Given the description of an element on the screen output the (x, y) to click on. 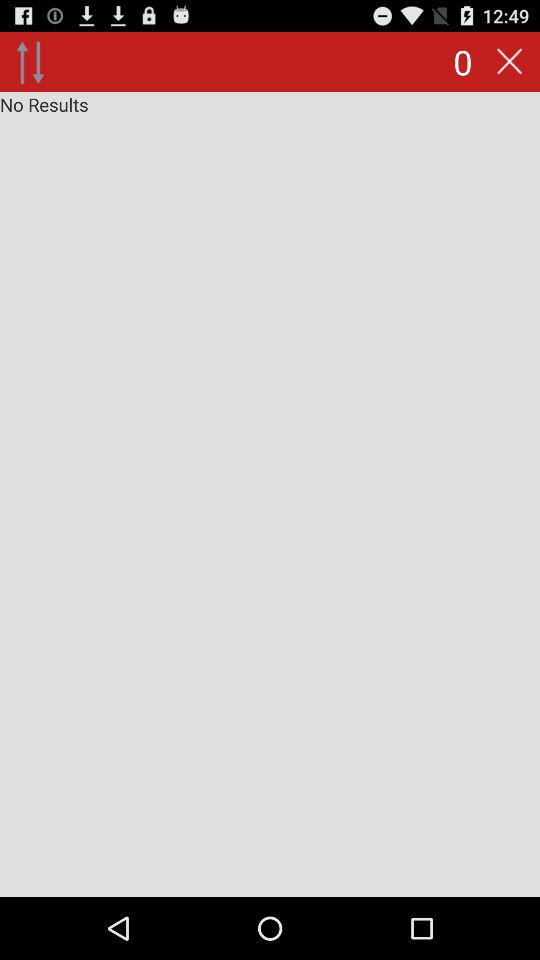
tap icon to the left of 0 icon (30, 61)
